Given the description of an element on the screen output the (x, y) to click on. 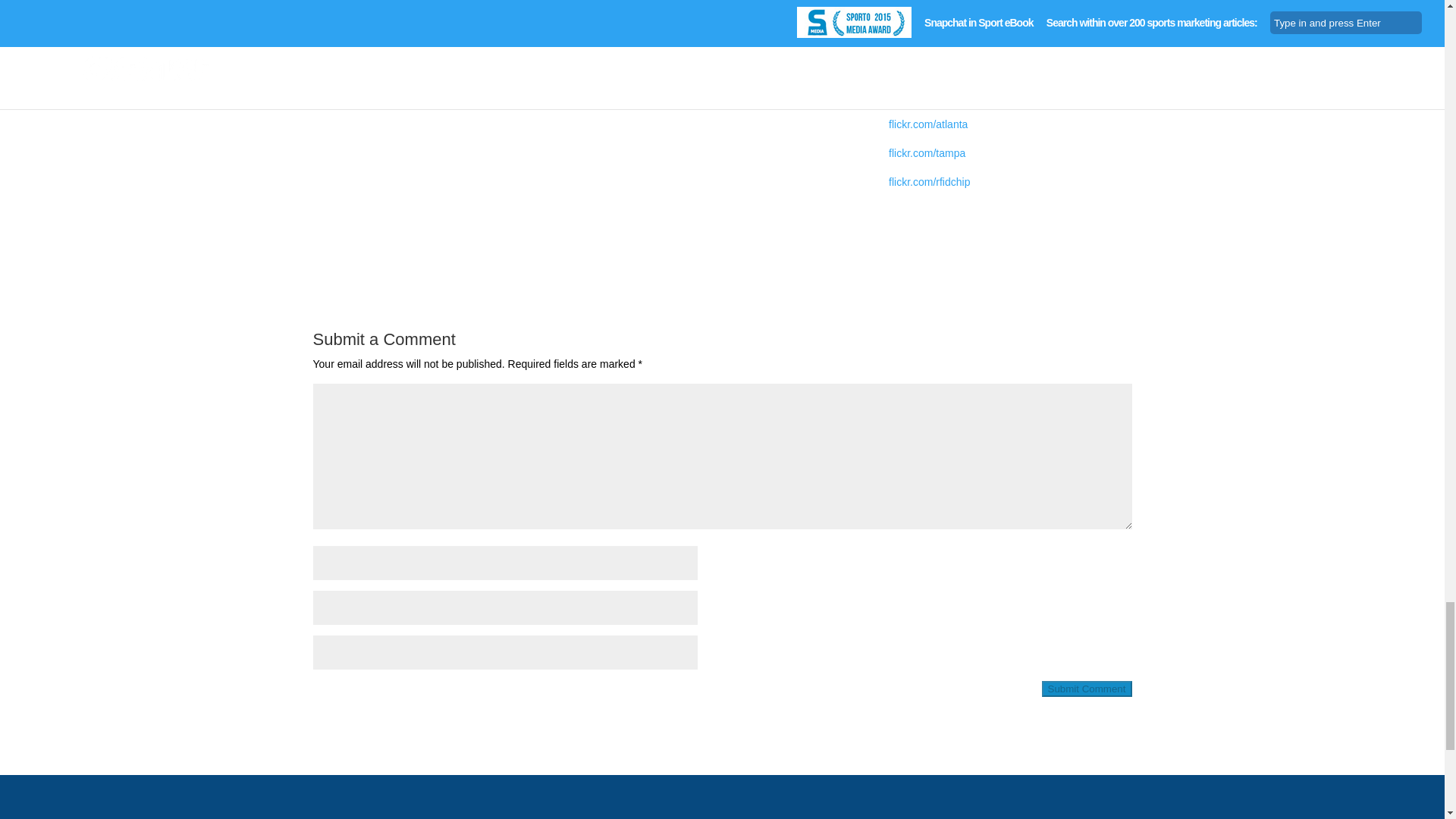
newsatlas.com (923, 38)
flickr.com (910, 67)
Submit Comment (1087, 688)
blogs.windwos.com (933, 95)
